Given the description of an element on the screen output the (x, y) to click on. 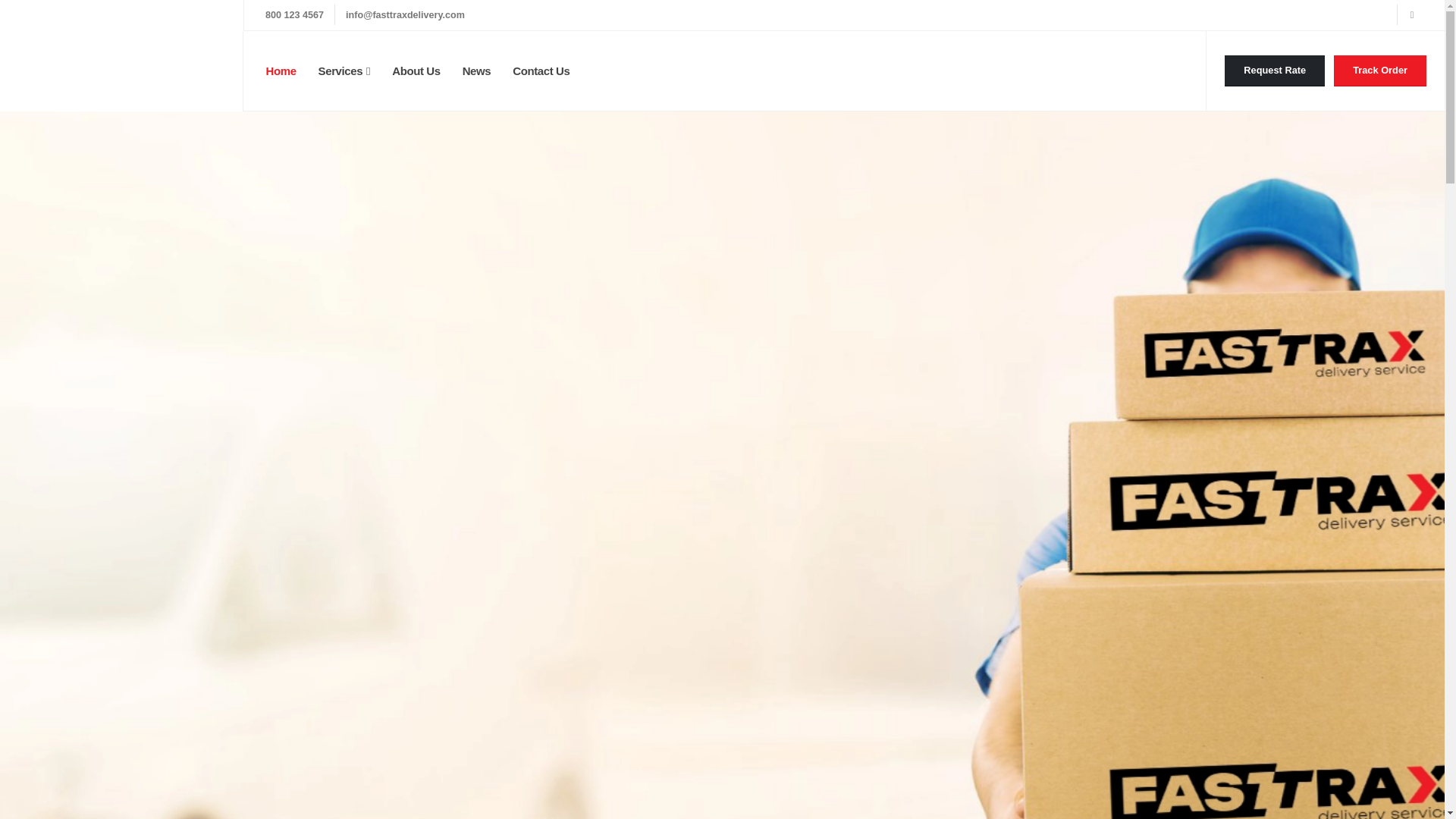
Contact Us (540, 70)
Fast Trax Delivery -  (121, 55)
Request Rate (1274, 70)
Contact Fast Trax Delivery (1274, 70)
Services (344, 70)
800 123 4567 (293, 14)
Track Order (1379, 70)
Facebook (1411, 14)
